Given the description of an element on the screen output the (x, y) to click on. 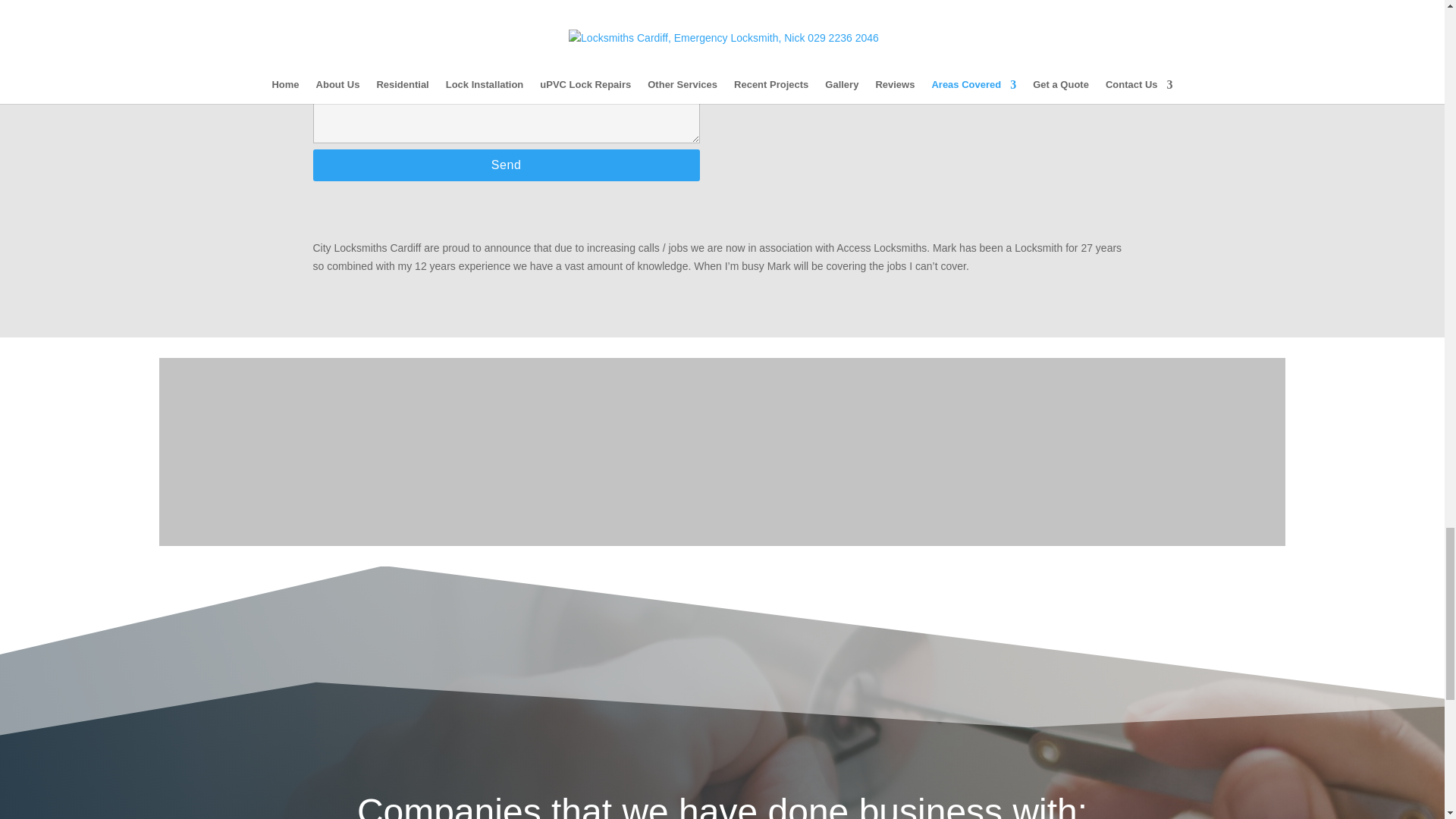
Send (505, 164)
